Given the description of an element on the screen output the (x, y) to click on. 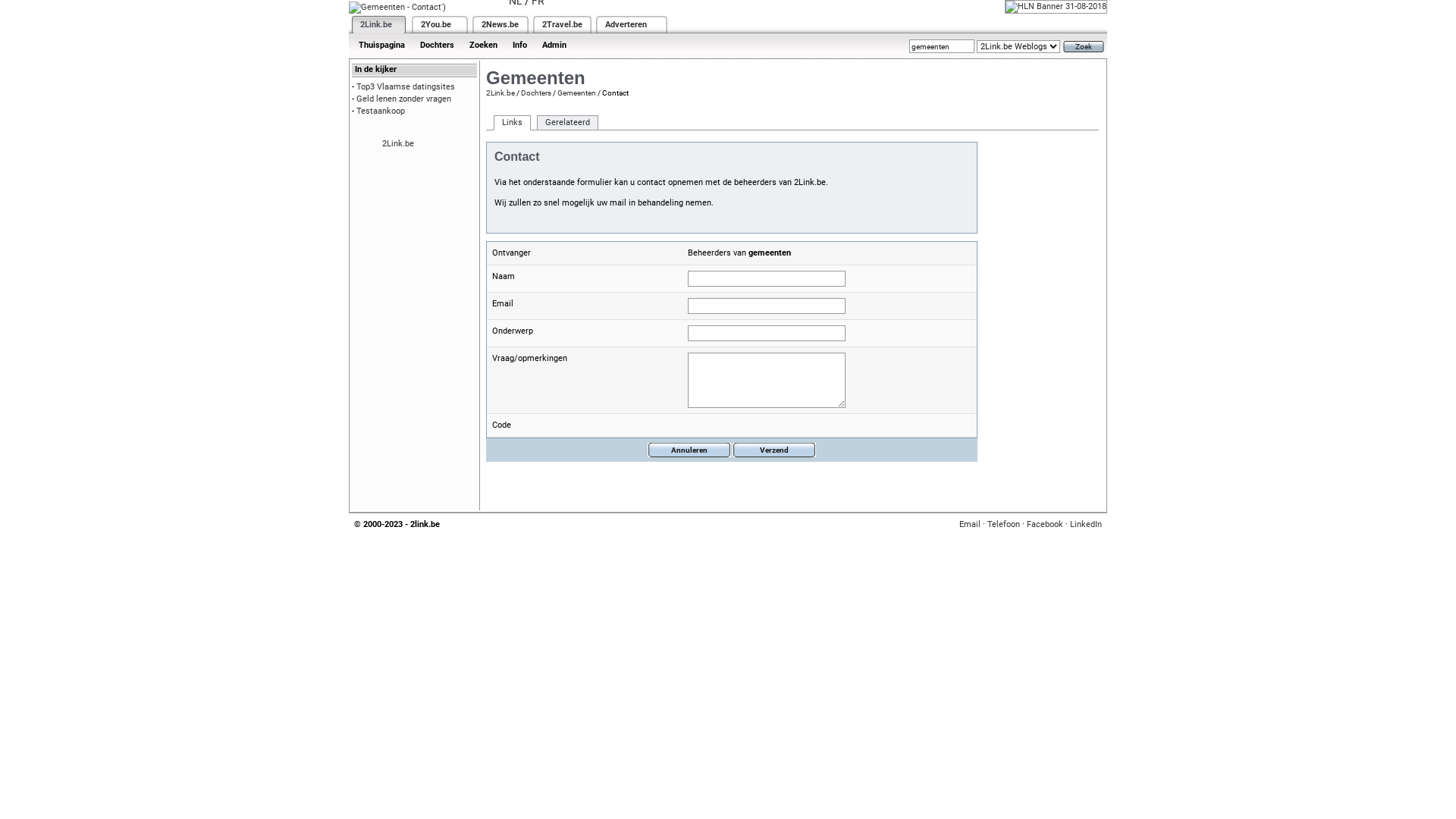
2Link.be Element type: text (376, 24)
Gemeenten Element type: text (576, 92)
Admin Element type: text (554, 45)
2Link.be Element type: text (398, 143)
2News.be Element type: text (499, 24)
2Travel.be Element type: text (562, 24)
Email Element type: text (969, 524)
Geld lenen zonder vragen Element type: text (403, 98)
Gerelateerd Element type: text (567, 122)
Testaankoop Element type: text (380, 111)
Info Element type: text (519, 45)
Top3 Vlaamse datingsites Element type: text (405, 86)
LinkedIn Element type: text (1085, 524)
Zoeken Element type: text (483, 45)
Links Element type: text (511, 122)
Verzend Element type: text (773, 449)
Zoek Element type: text (1083, 46)
Adverteren Element type: text (625, 24)
Thuispagina Element type: text (381, 45)
Dochters Element type: text (535, 92)
2You.be Element type: text (435, 24)
2Link.be Element type: text (500, 92)
Facebook Element type: text (1044, 524)
Telefoon Element type: text (1003, 524)
Dochters Element type: text (436, 45)
